Given the description of an element on the screen output the (x, y) to click on. 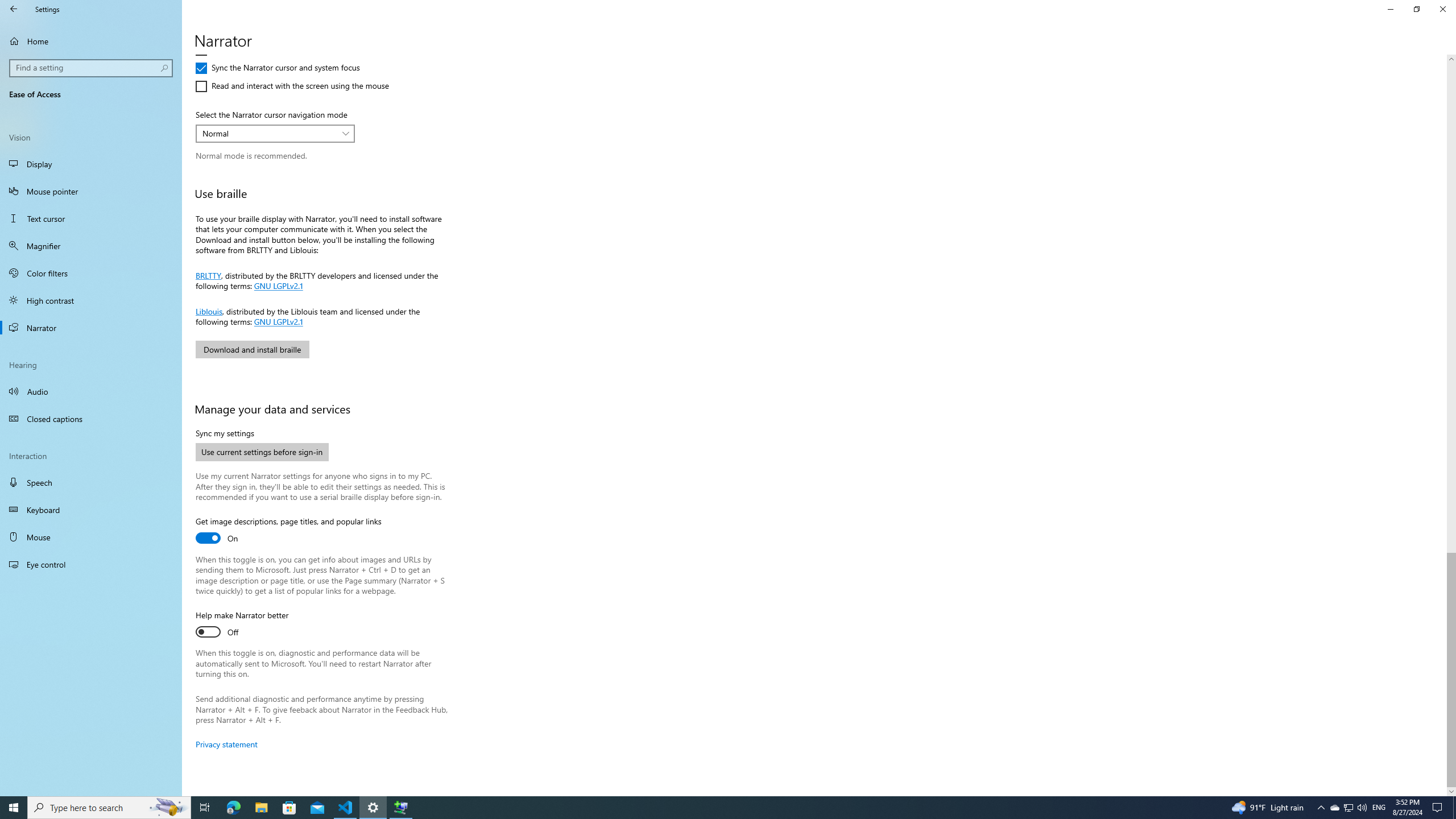
Vertical Large Decrease (1451, 307)
GNU LGPLv2.1 (277, 321)
Mouse pointer (91, 190)
BRLTTY (208, 274)
Text cursor (91, 217)
Extensible Wizards Host Process - 1 running window (400, 807)
Privacy statement (226, 743)
Keyboard (91, 509)
Magnifier (91, 245)
